Given the description of an element on the screen output the (x, y) to click on. 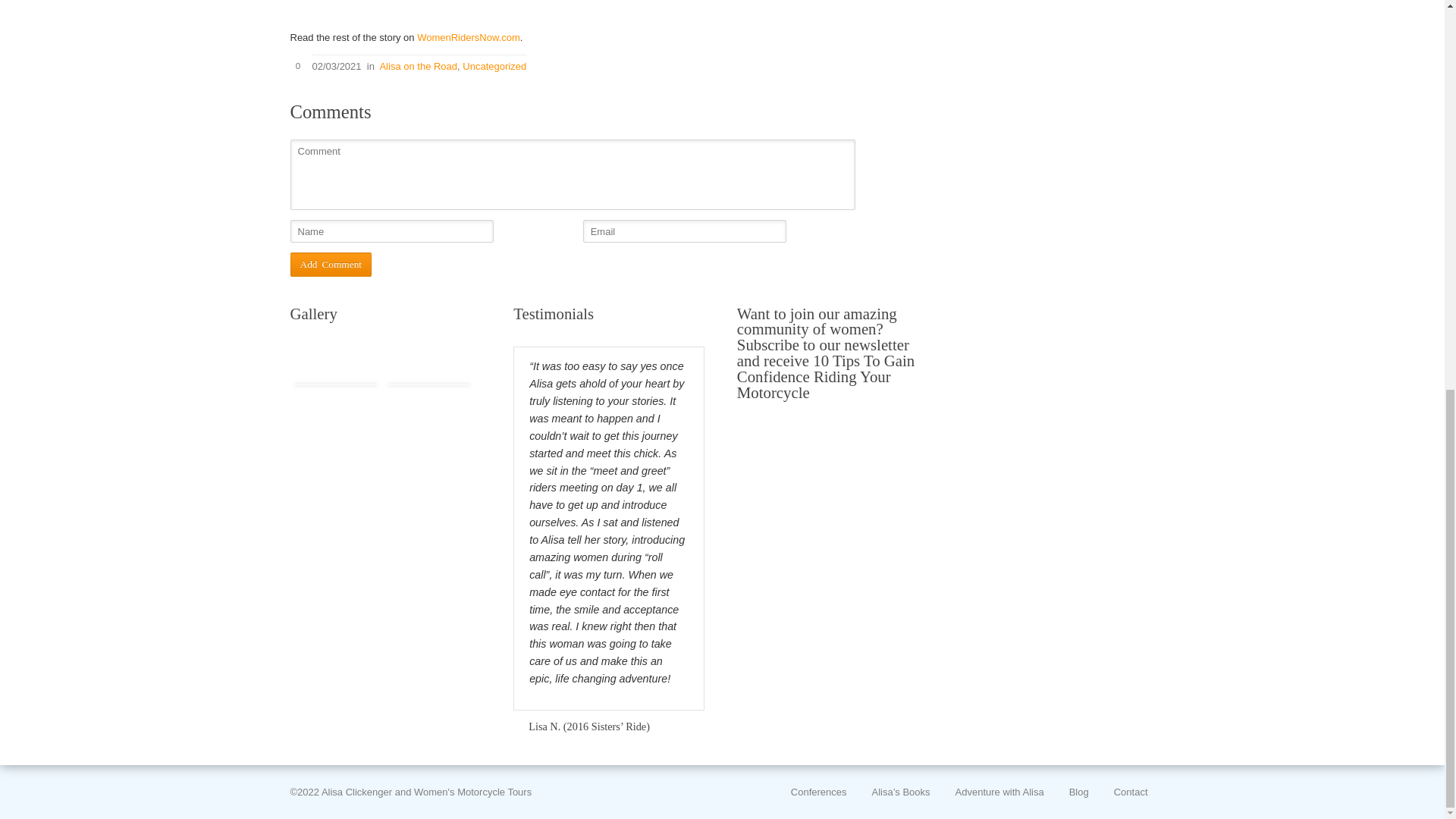
WomenRidersNow.com (467, 37)
Add Comment (330, 264)
Uncategorized (494, 66)
Add Comment (330, 264)
Alisa on the Road (417, 66)
